Given the description of an element on the screen output the (x, y) to click on. 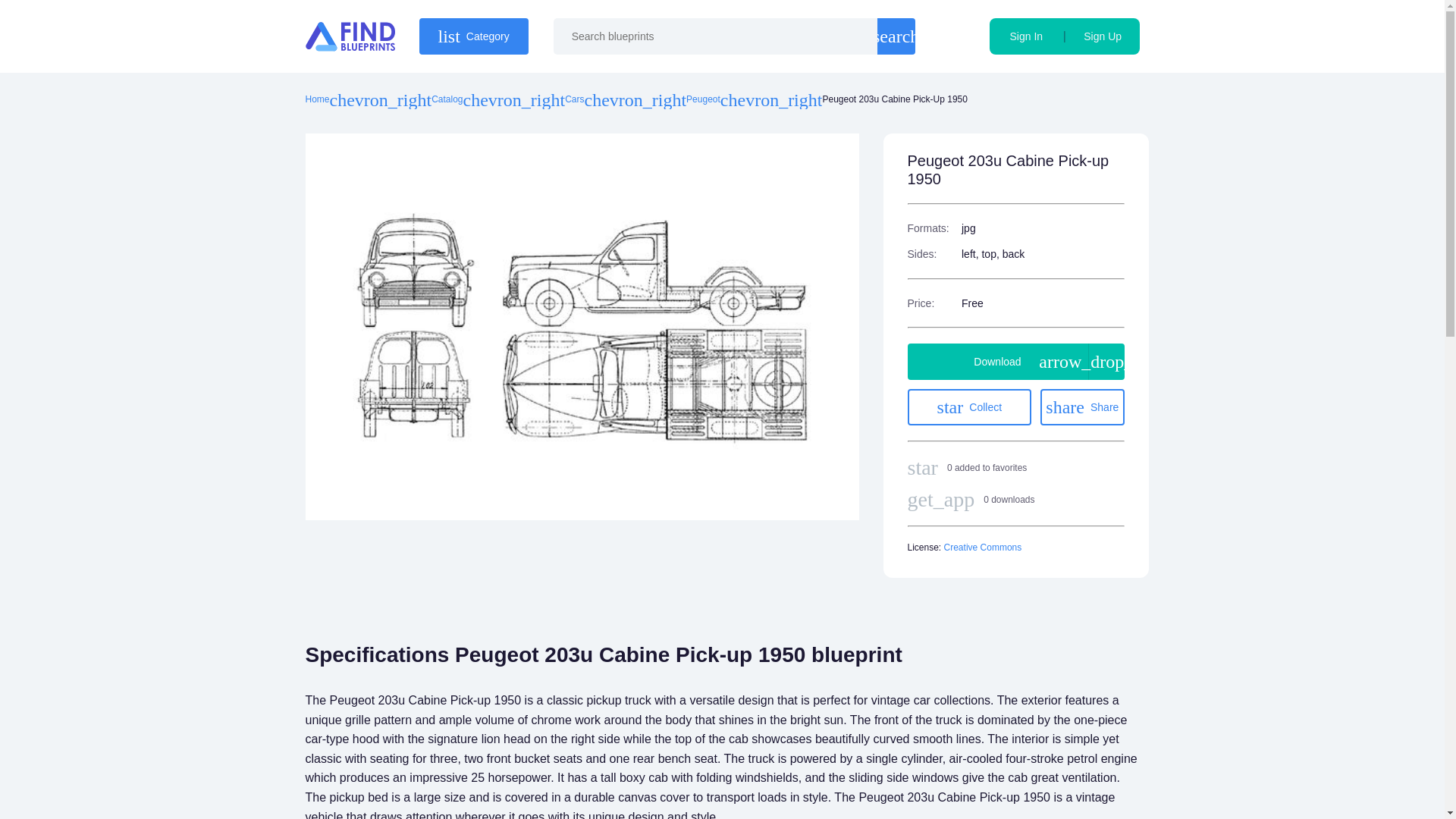
Sign In (1026, 36)
Sign Up (1102, 36)
Catalog (446, 99)
Creative Commons (1082, 407)
Blueprint Peugeot 203u Cabine Pick-up 1950 (982, 547)
Home (968, 407)
Peugeot (473, 36)
Cars (896, 36)
